Given the description of an element on the screen output the (x, y) to click on. 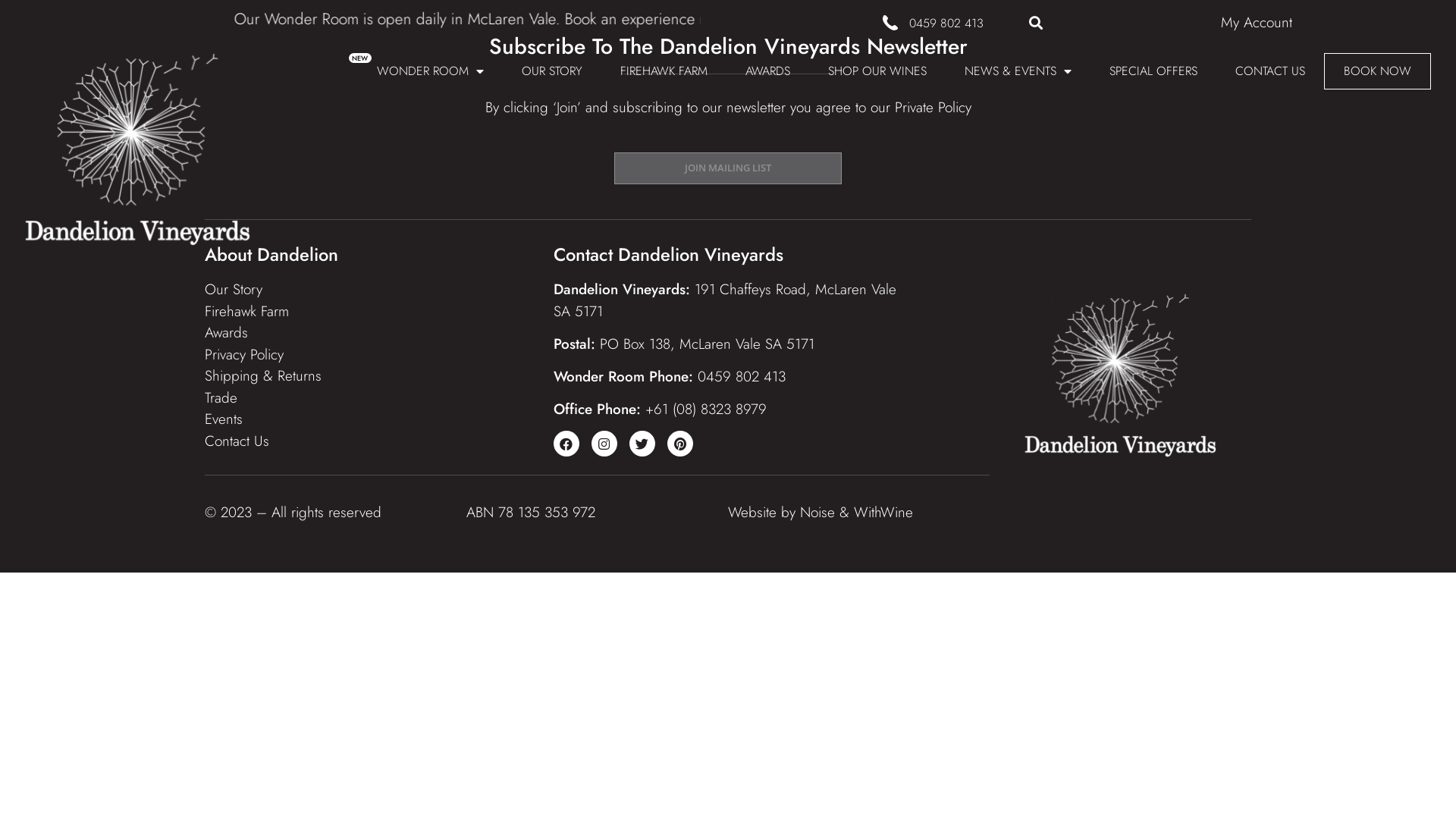
Events Element type: text (223, 418)
JOIN MAILING LIST Element type: text (727, 167)
BOOK NOW Element type: text (1377, 71)
OUR STORY Element type: text (551, 71)
Shipping & Returns Element type: text (262, 375)
Noise Element type: text (817, 512)
My Account Element type: text (1256, 22)
Awards Element type: text (225, 332)
Contact Us Element type: text (236, 440)
CONTACT US Element type: text (1270, 71)
Our Story Element type: text (233, 289)
Privacy Policy Element type: text (243, 354)
Firehawk Farm Element type: text (246, 311)
WithWine Element type: text (883, 512)
FIREHAWK FARM Element type: text (663, 71)
WONDER ROOM Element type: text (429, 71)
0459 802 413 Element type: text (946, 22)
SHOP OUR WINES Element type: text (877, 71)
NEWS & EVENTS Element type: text (1017, 71)
Trade Element type: text (220, 397)
SPECIAL OFFERS Element type: text (1153, 71)
AWARDS Element type: text (767, 71)
